Given the description of an element on the screen output the (x, y) to click on. 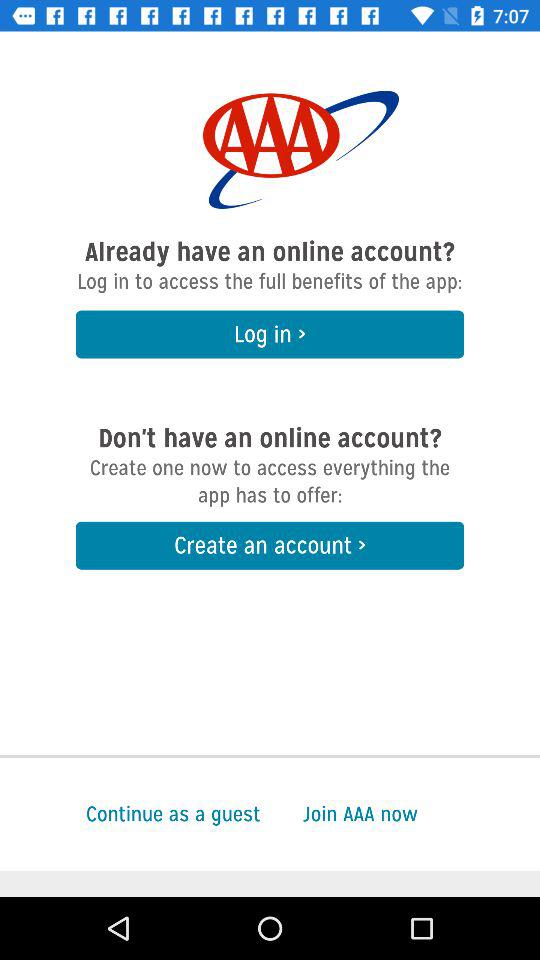
select the item to the right of continue as a (421, 814)
